Given the description of an element on the screen output the (x, y) to click on. 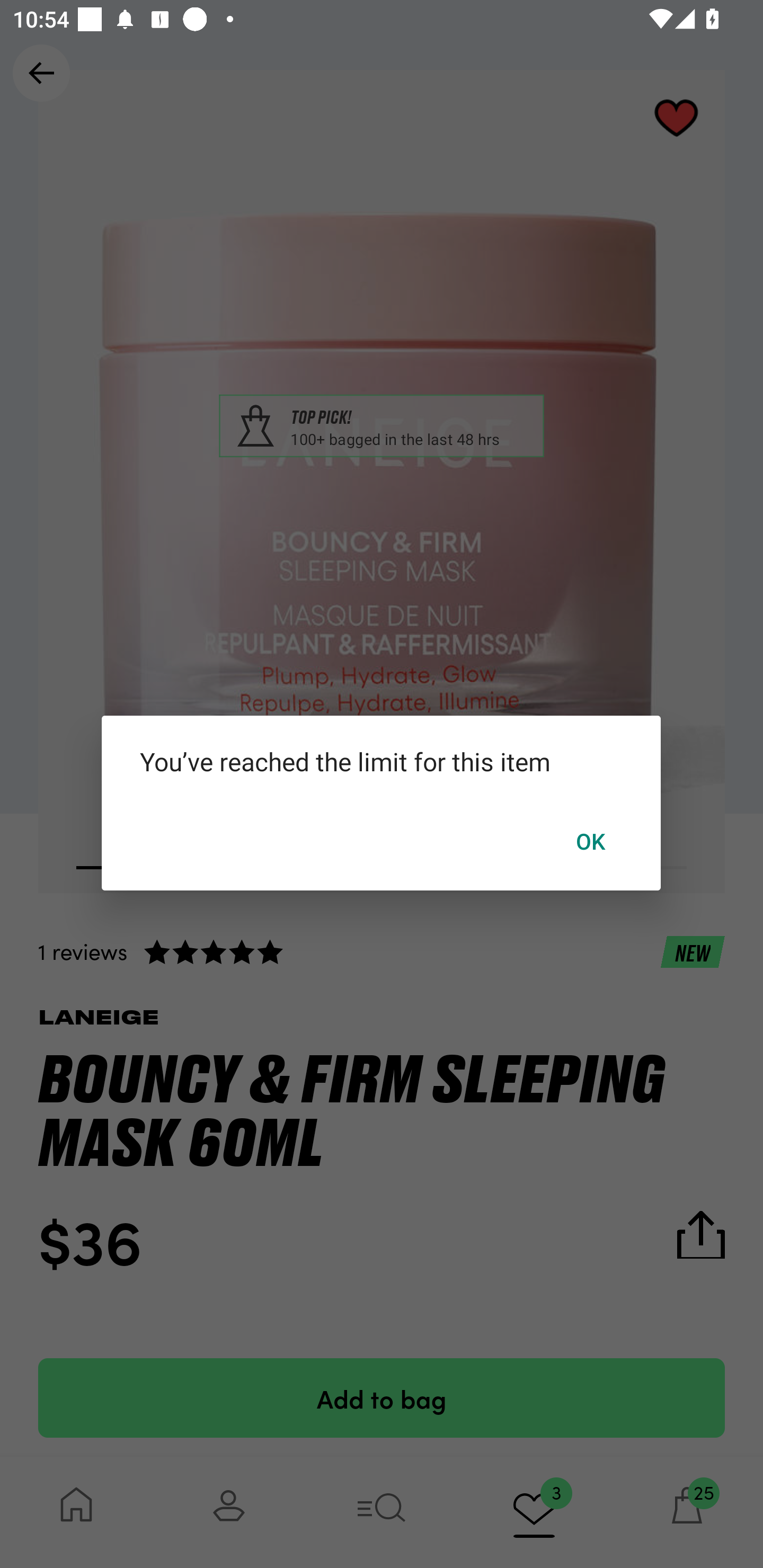
OK (590, 841)
